Given the description of an element on the screen output the (x, y) to click on. 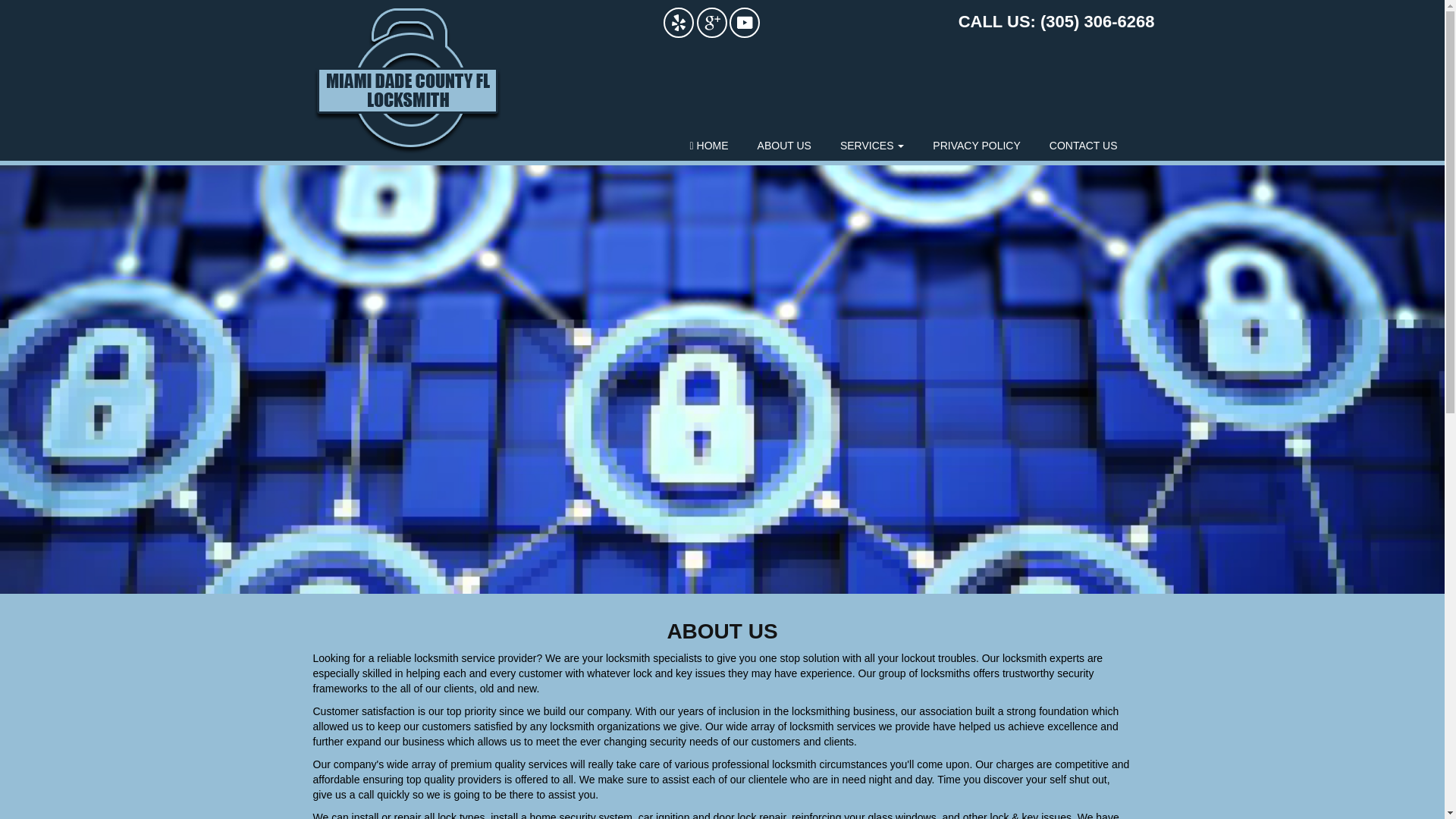
CONTACT US (1083, 145)
HOME (708, 145)
PRIVACY POLICY (975, 145)
SERVICES (871, 145)
Youtube (744, 21)
Google Plus (711, 21)
ABOUT US (783, 145)
Yelp (678, 21)
